Given the description of an element on the screen output the (x, y) to click on. 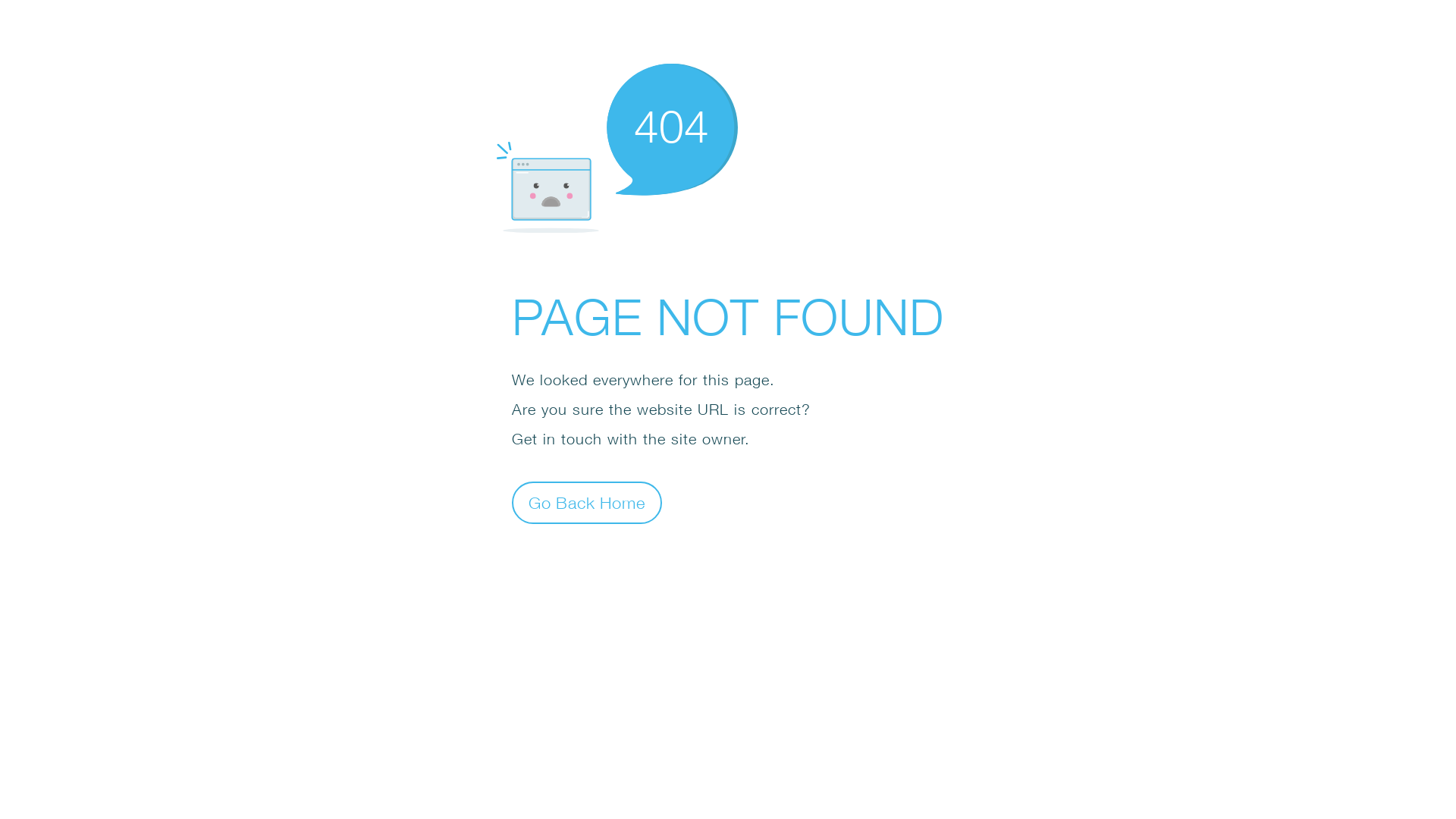
Go Back Home Element type: text (586, 502)
